Given the description of an element on the screen output the (x, y) to click on. 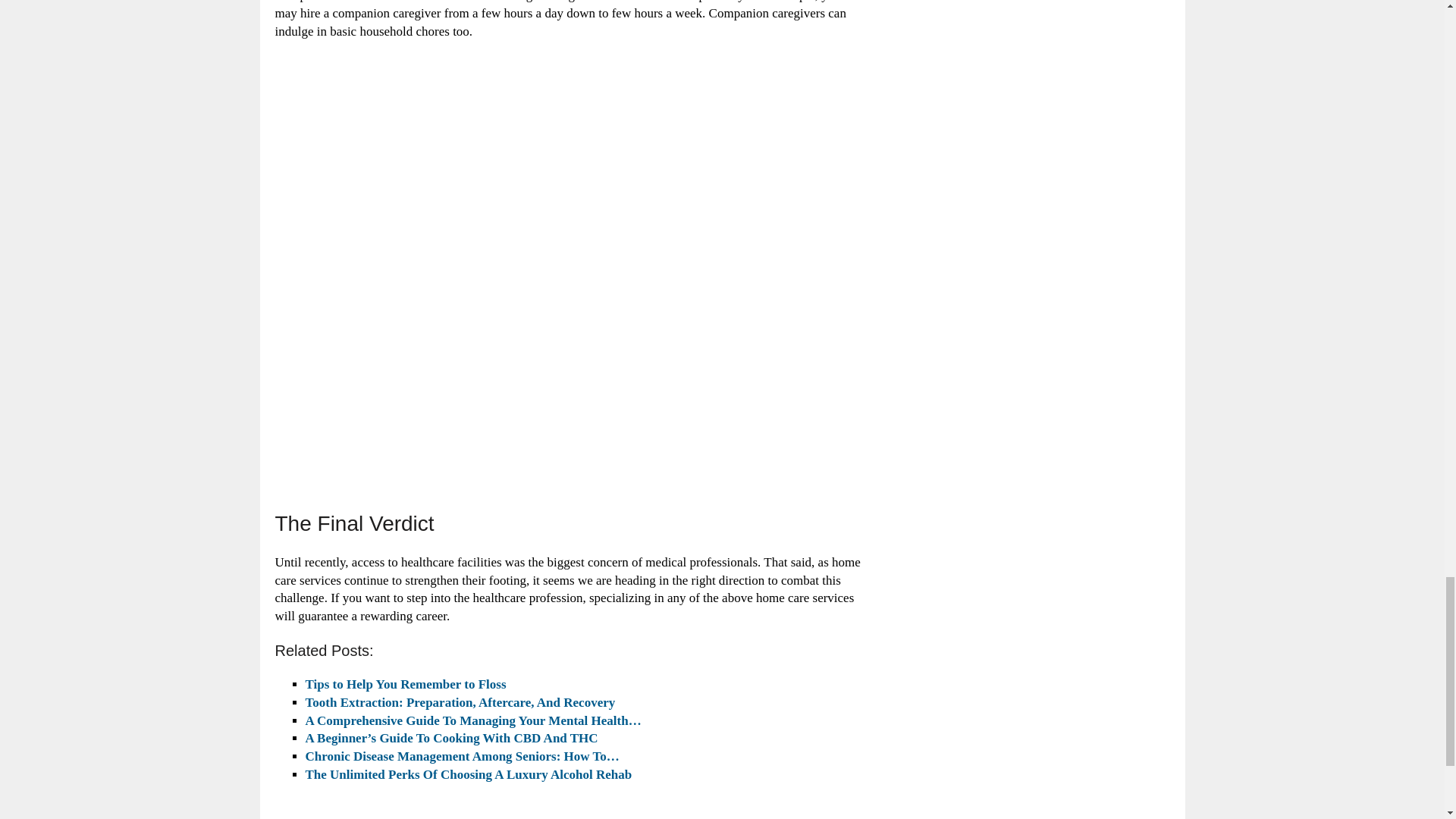
Tooth Extraction: Preparation, Aftercare, And Recovery (459, 702)
The Unlimited Perks Of Choosing A Luxury Alcohol Rehab (467, 774)
Tips to Help You Remember to Floss (404, 684)
